Given the description of an element on the screen output the (x, y) to click on. 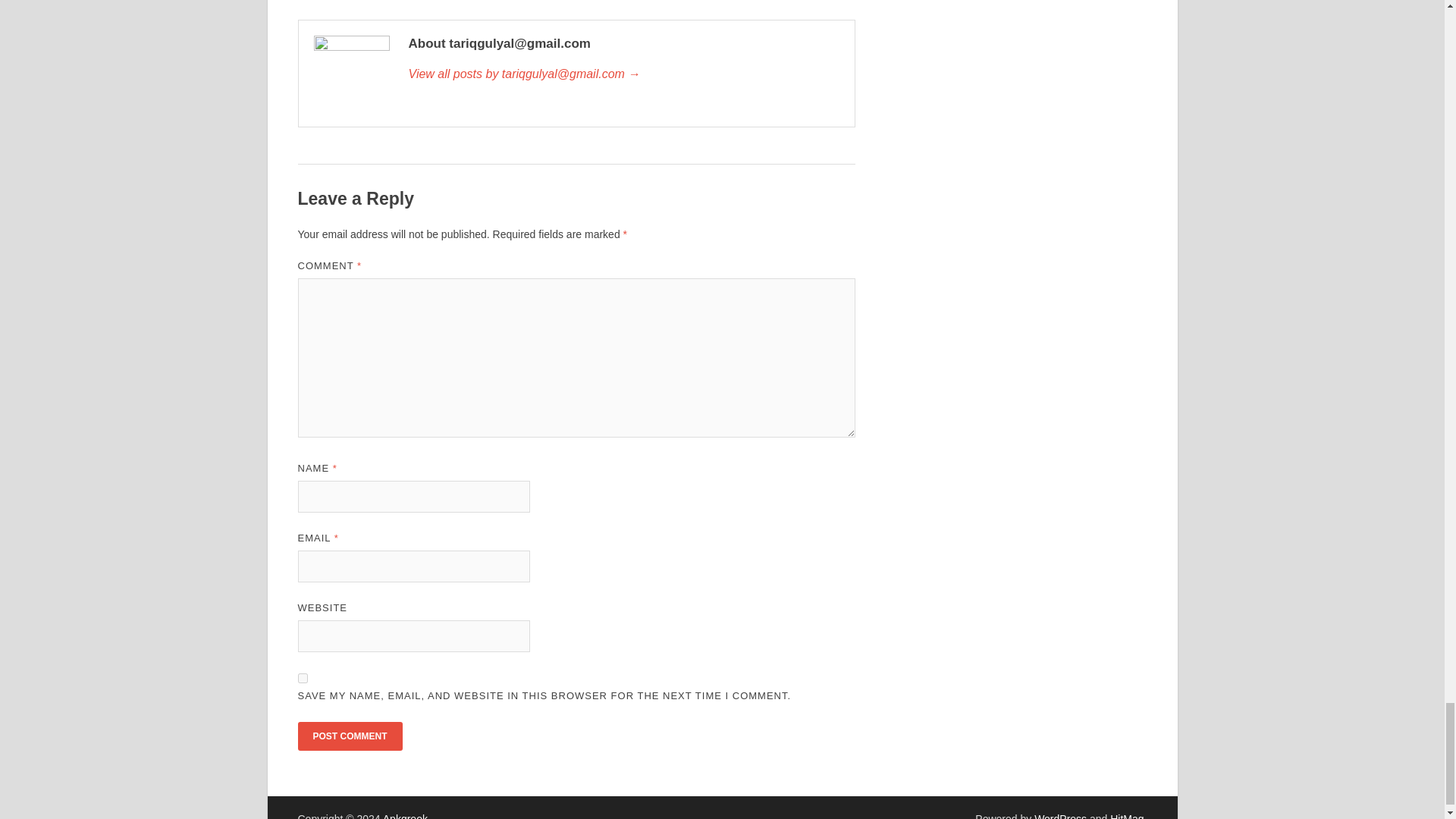
yes (302, 678)
Post Comment (349, 736)
Post Comment (349, 736)
